Given the description of an element on the screen output the (x, y) to click on. 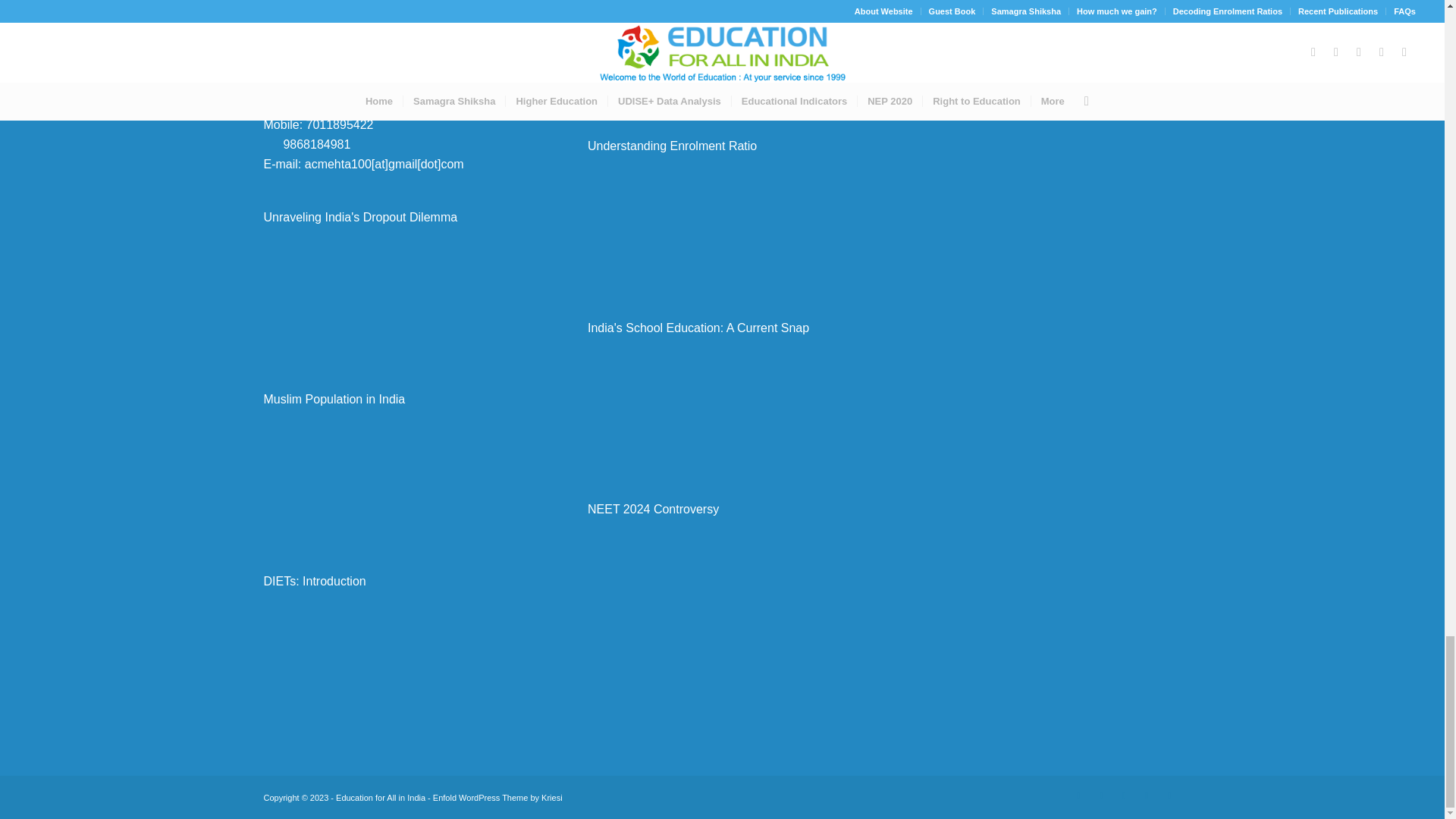
YouTube video player (722, 53)
YouTube video player (397, 294)
YouTube video player (397, 475)
whatsapp logo (269, 141)
YouTube video player (397, 657)
